Given the description of an element on the screen output the (x, y) to click on. 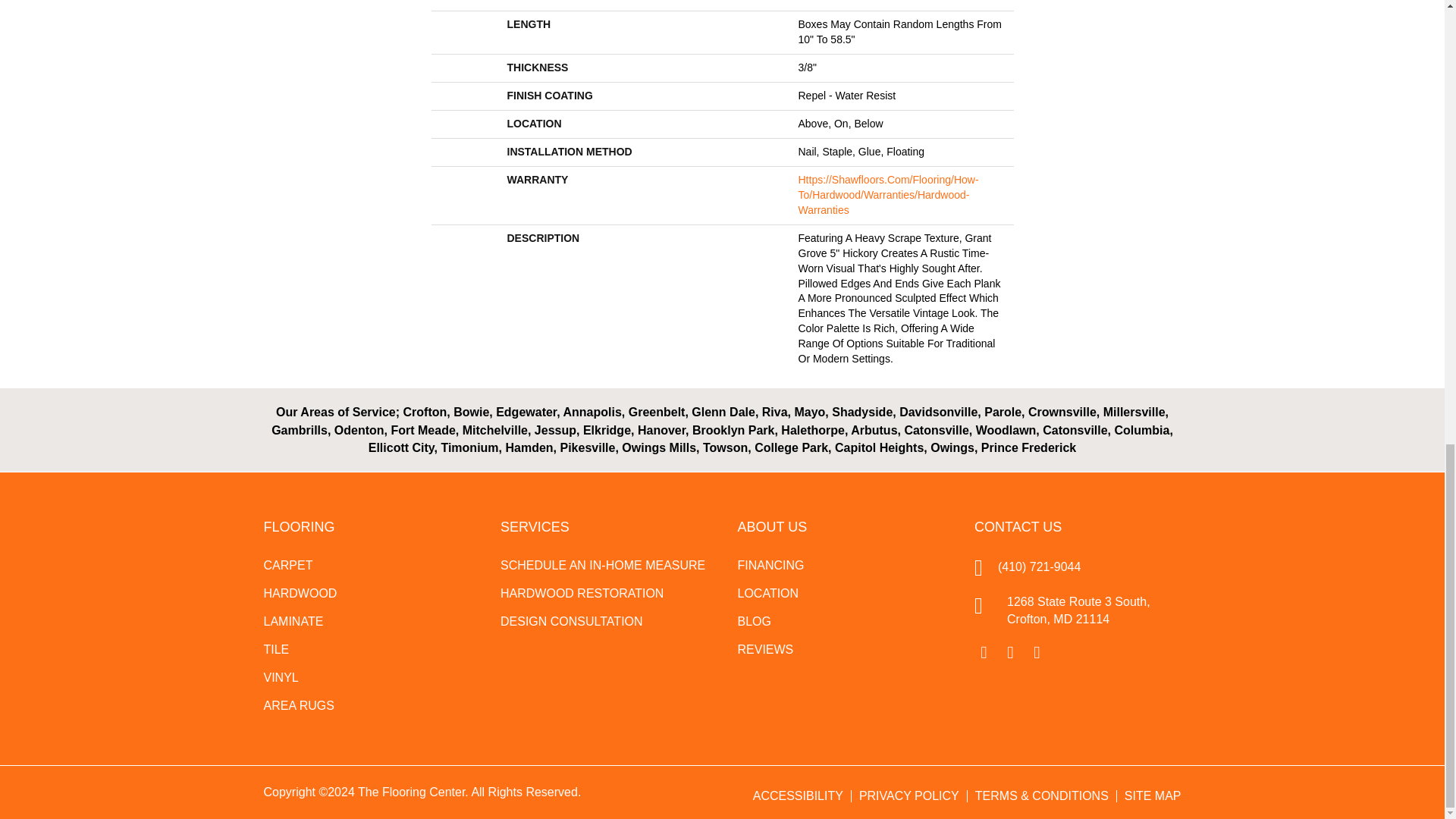
ABOUT US (771, 526)
Flooring (298, 526)
Services (534, 526)
CONTACT US (1017, 526)
